Given the description of an element on the screen output the (x, y) to click on. 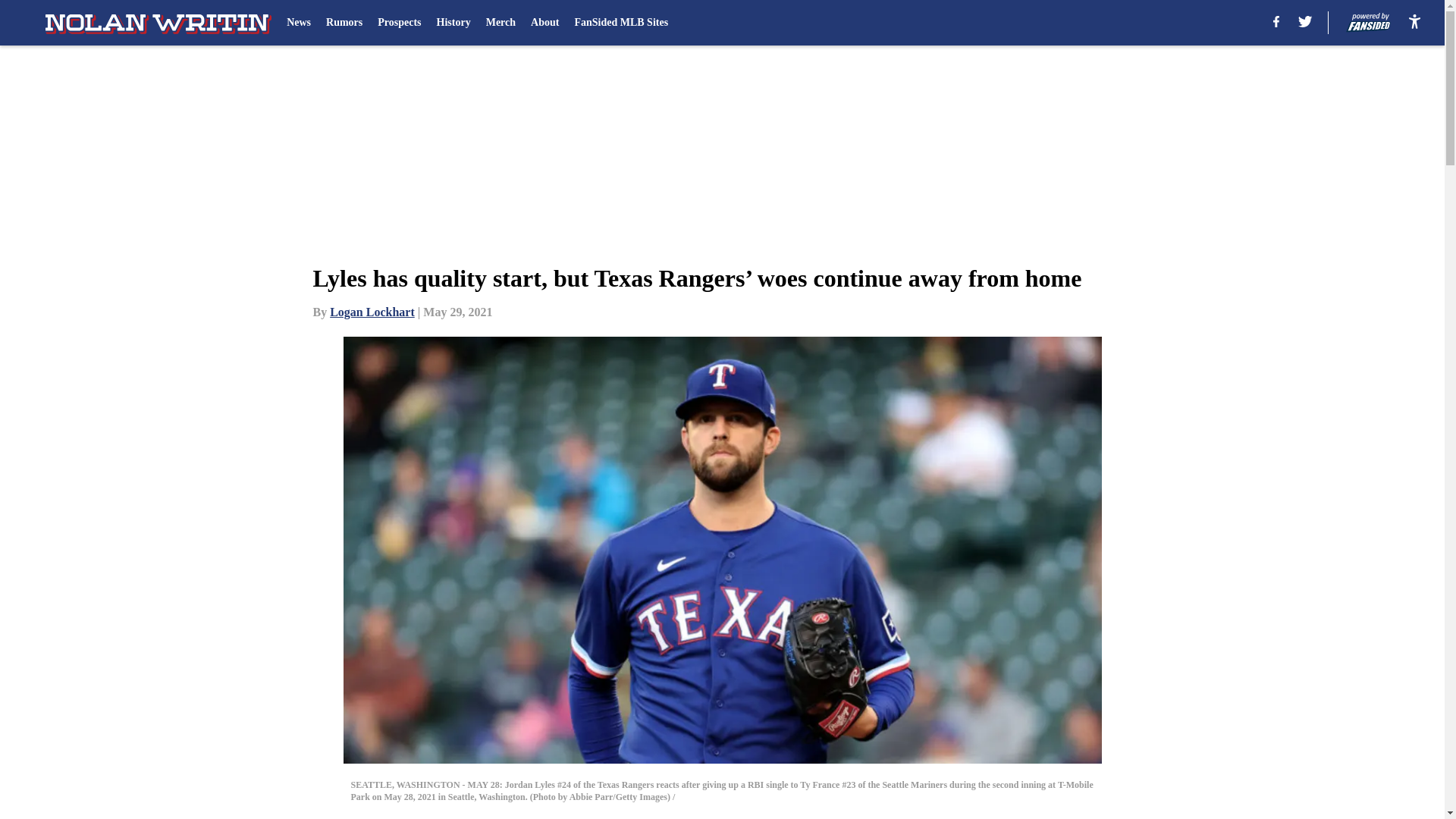
Merch (500, 22)
Rumors (344, 22)
News (298, 22)
Prospects (398, 22)
FanSided MLB Sites (620, 22)
About (545, 22)
History (453, 22)
Logan Lockhart (372, 311)
